Given the description of an element on the screen output the (x, y) to click on. 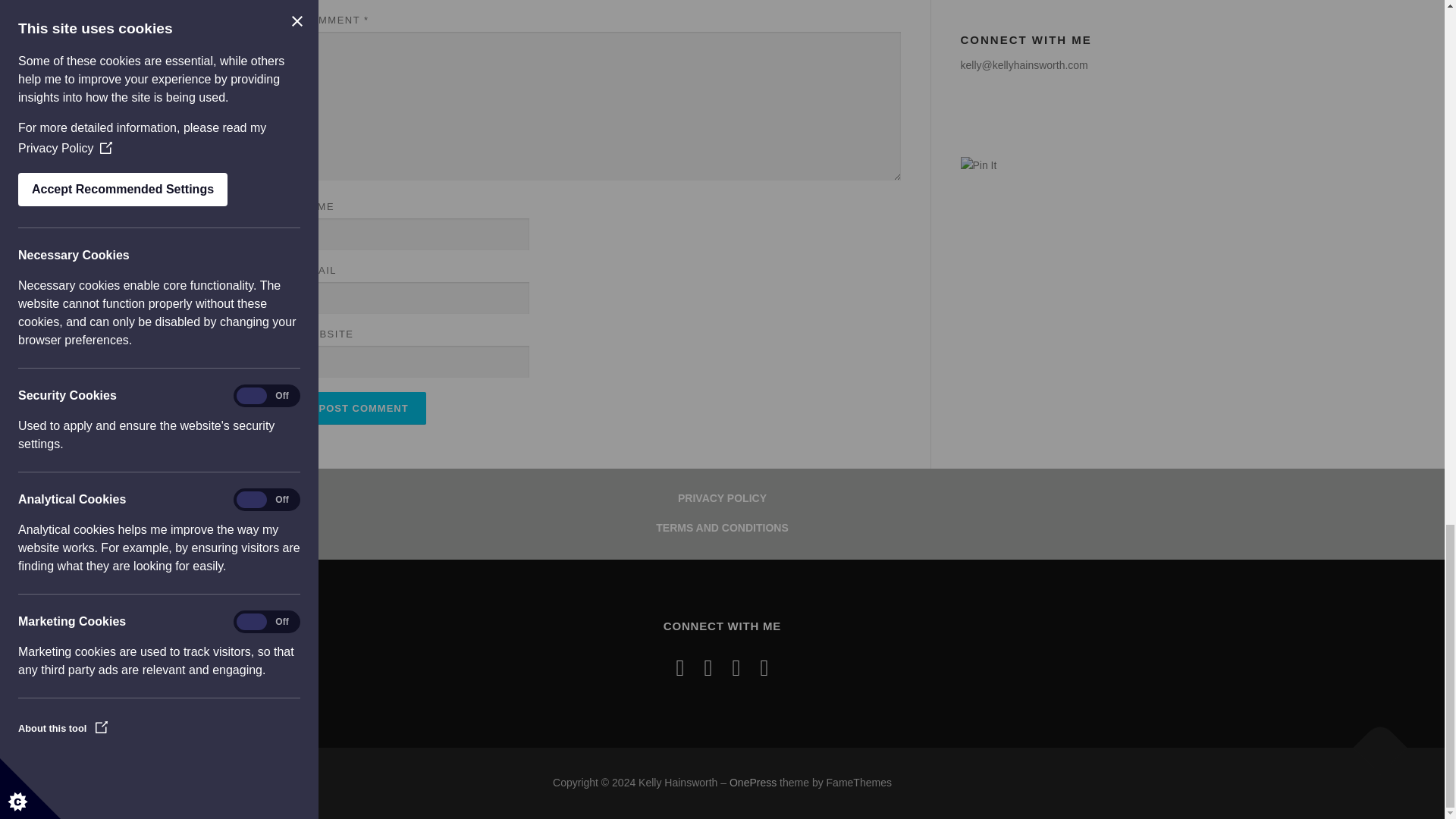
Post Comment (363, 408)
Pin It (977, 166)
Post Comment (363, 408)
Back To Top (1372, 740)
